Given the description of an element on the screen output the (x, y) to click on. 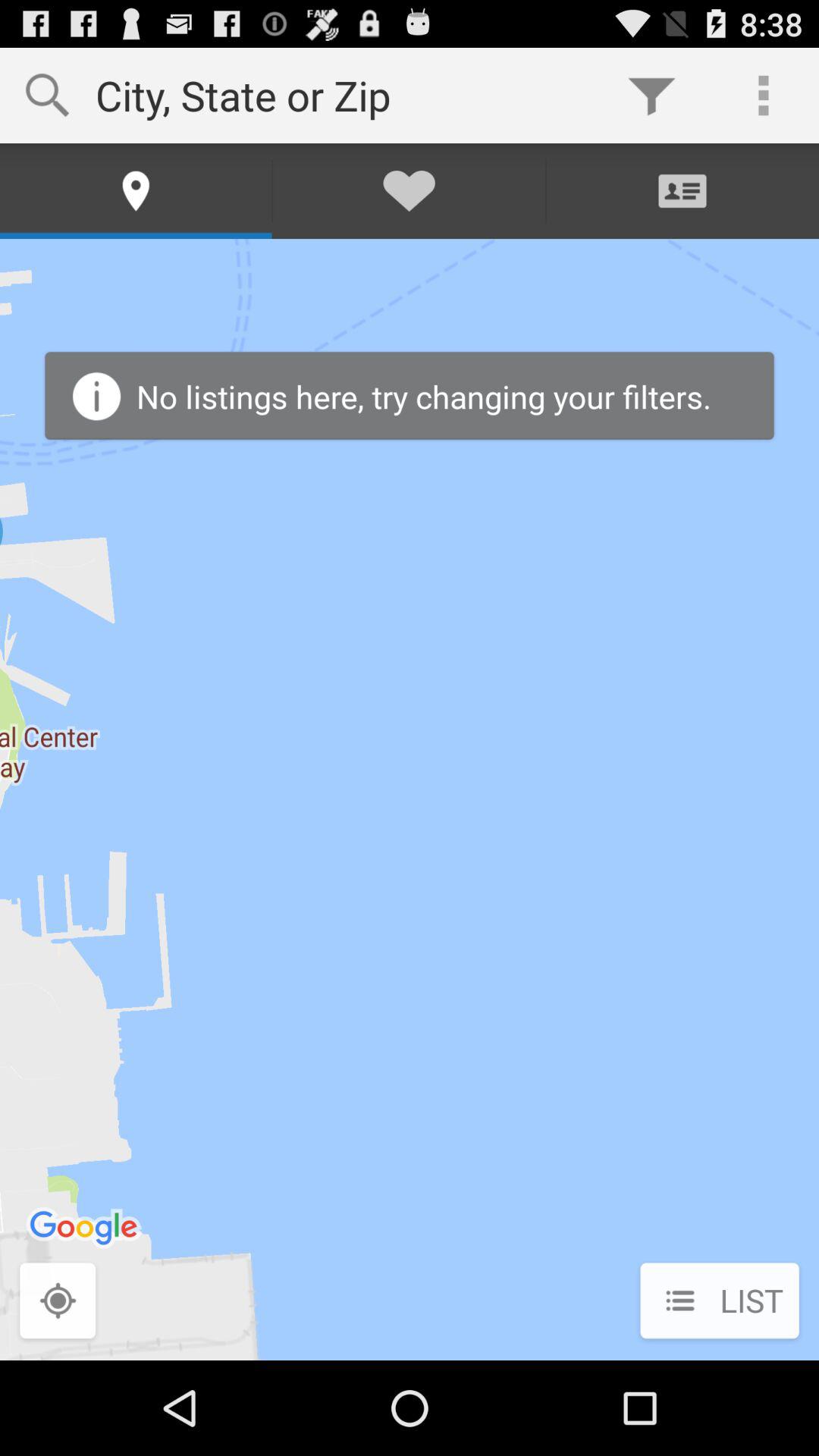
flip until list (719, 1302)
